Given the description of an element on the screen output the (x, y) to click on. 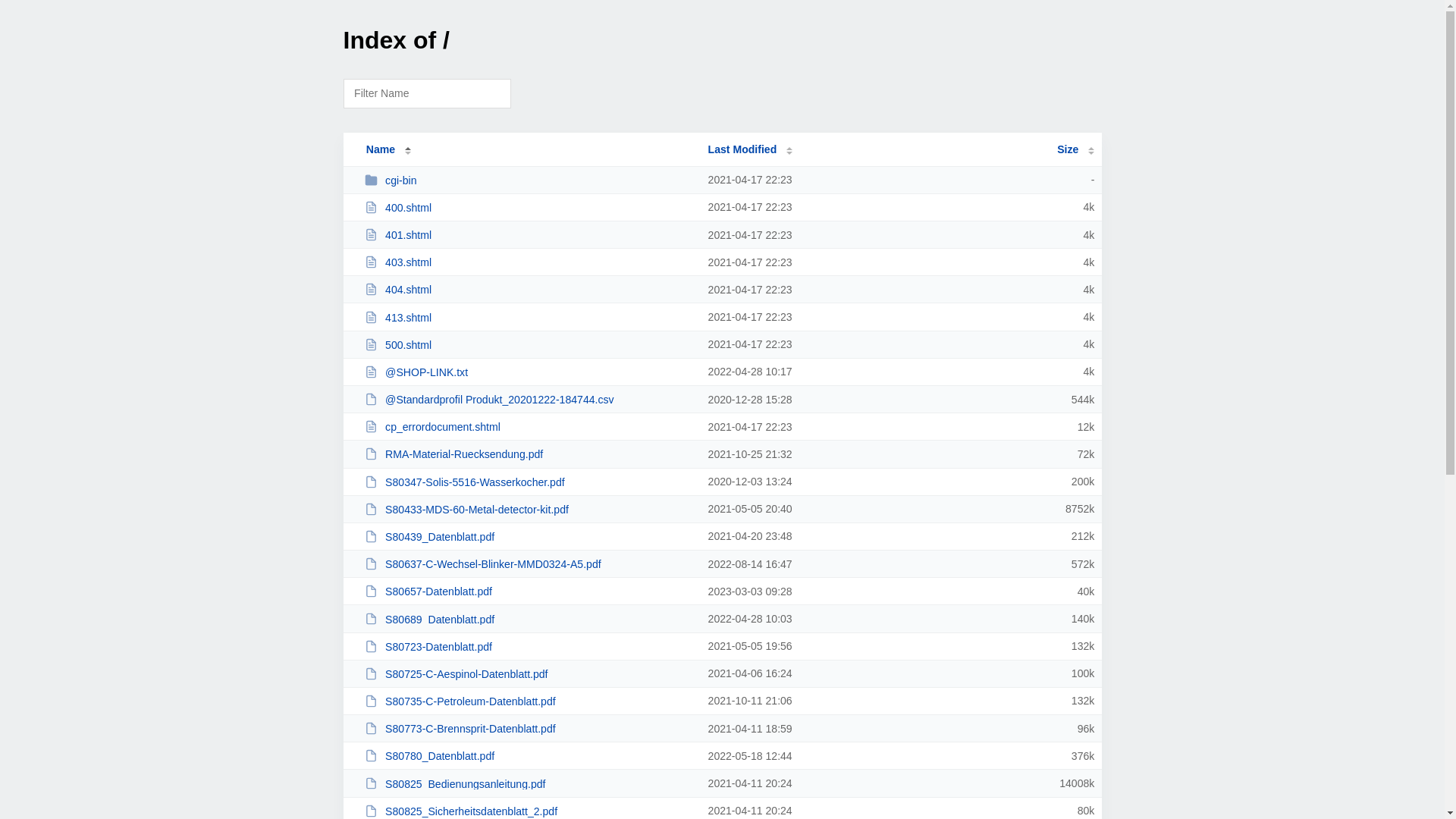
S80735-C-Petroleum-Datenblatt.pdf Element type: text (529, 700)
S80825_Sicherheitsdatenblatt_2.pdf Element type: text (529, 810)
RMA-Material-Ruecksendung.pdf Element type: text (529, 453)
S80433-MDS-60-Metal-detector-kit.pdf Element type: text (529, 508)
S80725-C-Aespinol-Datenblatt.pdf Element type: text (529, 673)
S80780_Datenblatt.pdf Element type: text (529, 755)
cp_errordocument.shtml Element type: text (529, 426)
400.shtml Element type: text (529, 206)
S80657-Datenblatt.pdf Element type: text (529, 590)
Last Modified Element type: text (750, 149)
S80637-C-Wechsel-Blinker-MMD0324-A5.pdf Element type: text (529, 563)
404.shtml Element type: text (529, 288)
S80825_Bedienungsanleitung.pdf Element type: text (529, 783)
403.shtml Element type: text (529, 261)
S80689_Datenblatt.pdf Element type: text (529, 618)
S80773-C-Brennsprit-Datenblatt.pdf Element type: text (529, 727)
S80347-Solis-5516-Wasserkocher.pdf Element type: text (529, 481)
401.shtml Element type: text (529, 234)
S80439_Datenblatt.pdf Element type: text (529, 536)
S80723-Datenblatt.pdf Element type: text (529, 646)
@Standardprofil Produkt_20201222-184744.csv Element type: text (529, 398)
500.shtml Element type: text (529, 344)
Name Element type: text (380, 149)
Size Element type: text (1075, 149)
413.shtml Element type: text (529, 316)
@SHOP-LINK.txt Element type: text (529, 371)
cgi-bin Element type: text (529, 179)
